Given the description of an element on the screen output the (x, y) to click on. 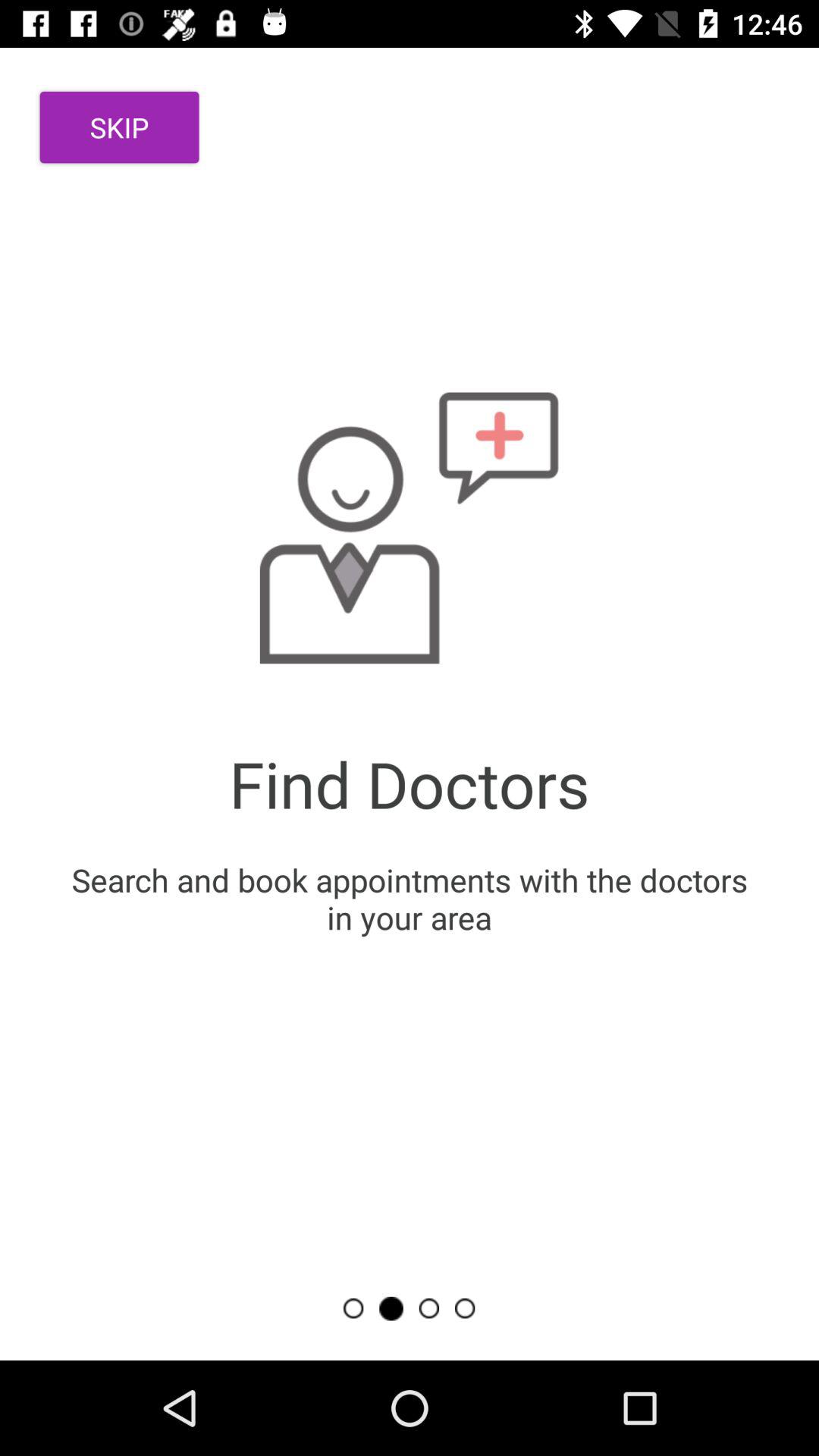
flip to the skip (119, 127)
